Given the description of an element on the screen output the (x, y) to click on. 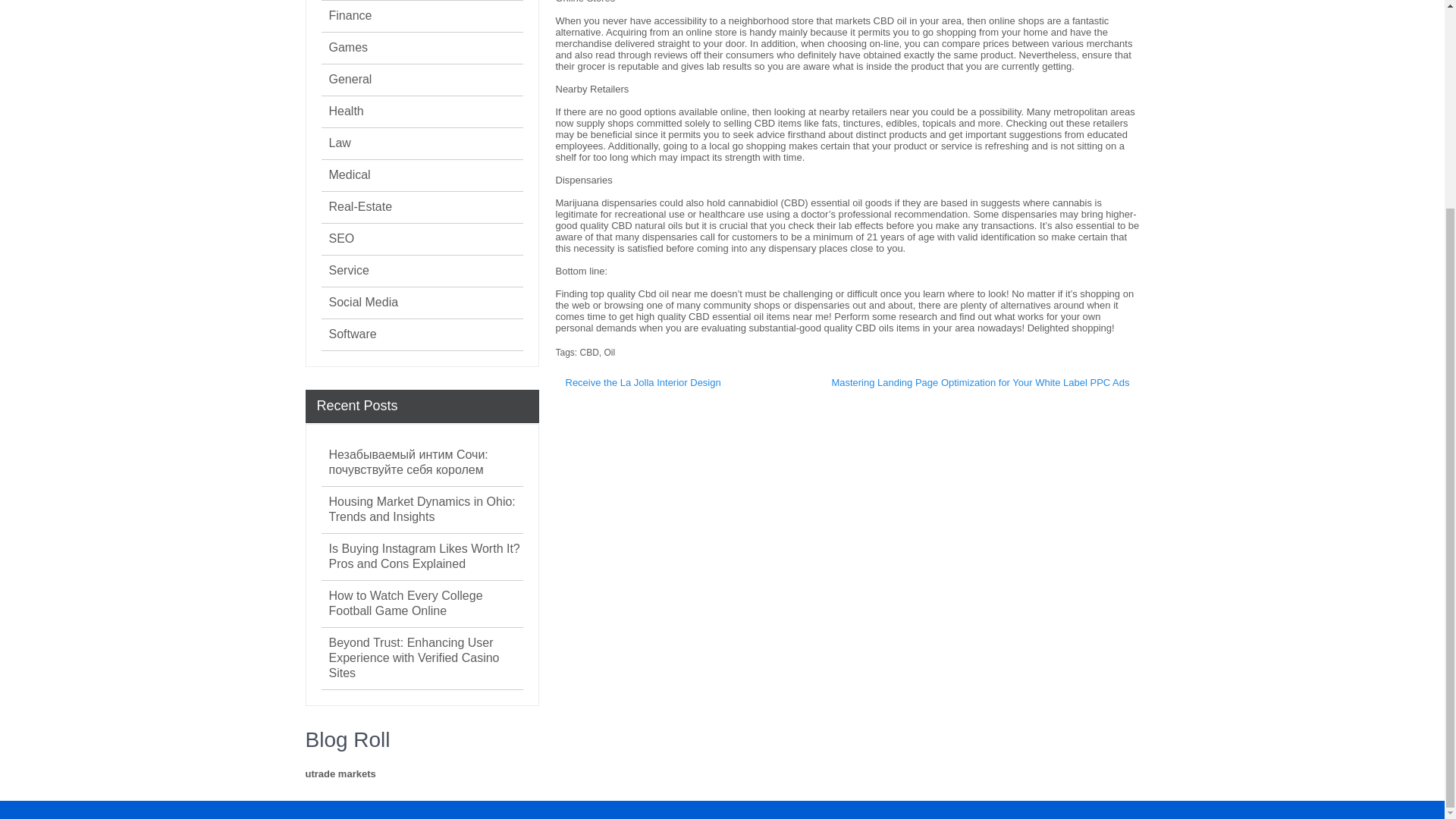
Service (349, 270)
Housing Market Dynamics in Ohio: Trends and Insights (425, 509)
Is Buying Instagram Likes Worth It? Pros and Cons Explained (425, 556)
Social Media (363, 302)
Finance (350, 15)
Law (339, 142)
General (350, 79)
SEO (342, 238)
Software (353, 334)
Receive the La Jolla Interior Design (642, 382)
How to Watch Every College Football Game Online (425, 603)
utrade markets (339, 773)
Games (348, 47)
